Given the description of an element on the screen output the (x, y) to click on. 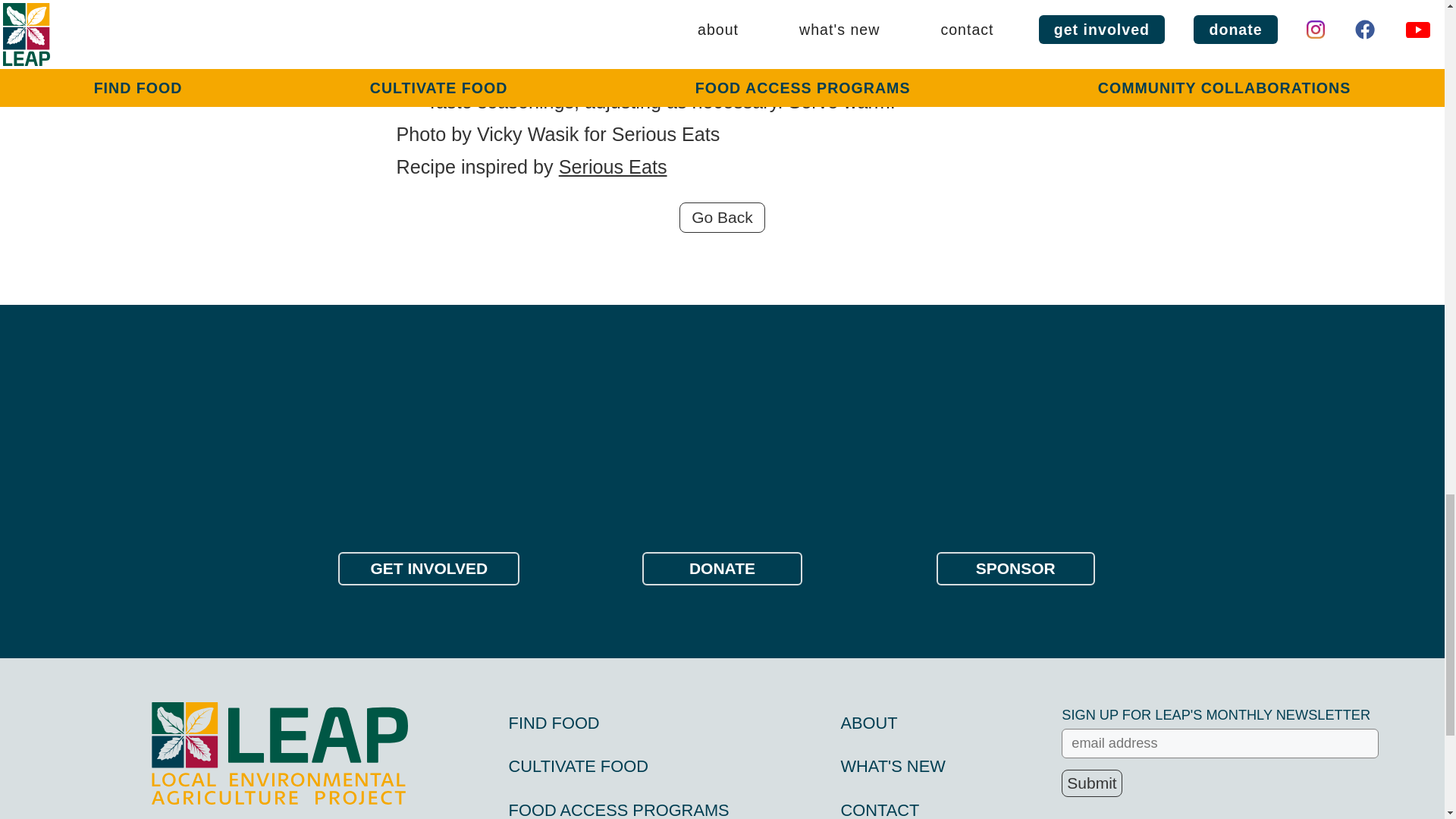
CULTIVATE FOOD (577, 765)
SPONSOR (1015, 568)
FIND FOOD (553, 722)
Serious Eats (612, 166)
FOOD ACCESS PROGRAMS (618, 809)
ABOUT (868, 722)
GET INVOLVED (428, 568)
DONATE (722, 568)
Submit (1091, 782)
Submit (1091, 782)
WHAT'S NEW (892, 765)
CONTACT (879, 809)
Go Back (722, 217)
